Given the description of an element on the screen output the (x, y) to click on. 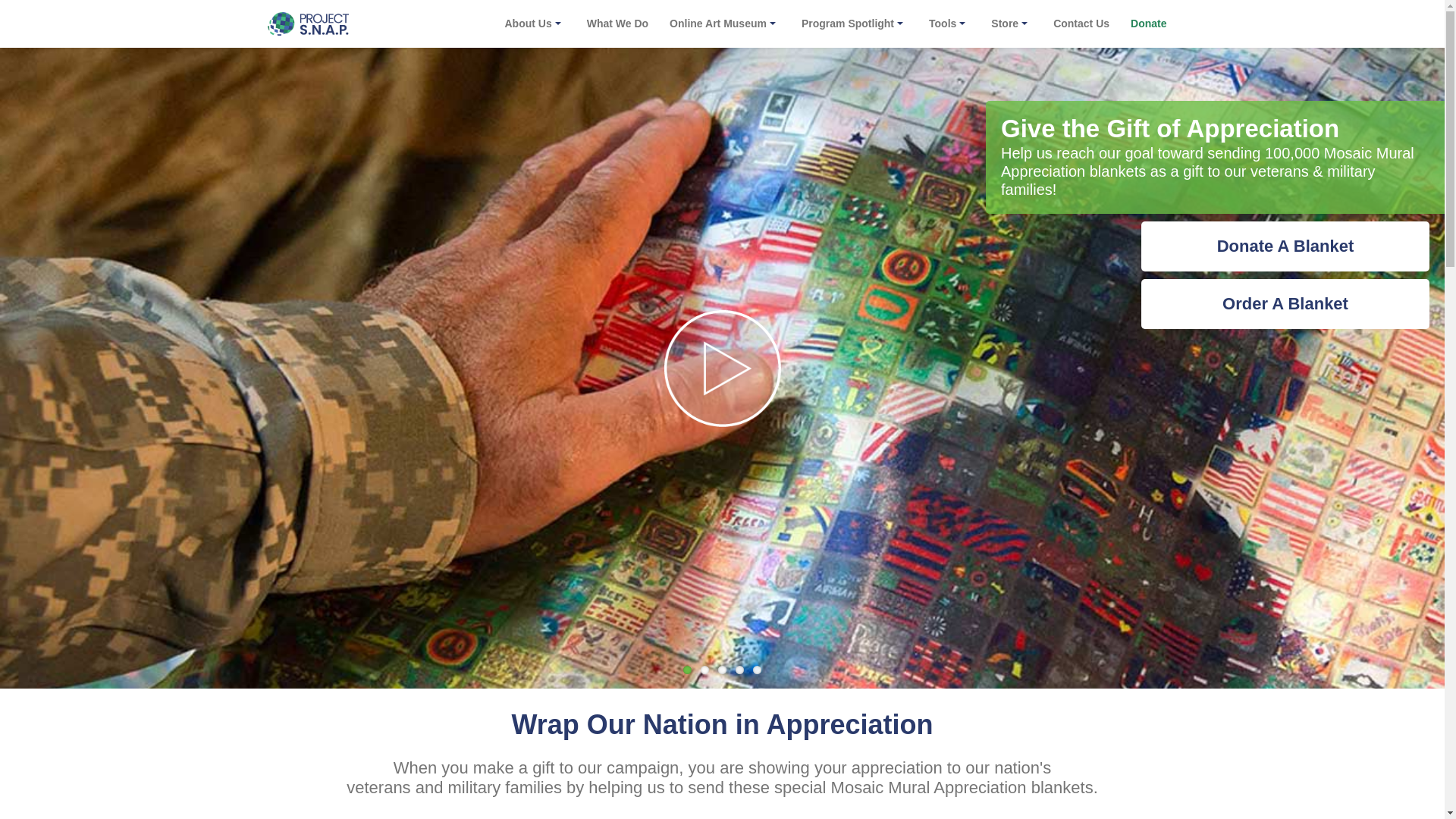
Project S.N.A.P. (306, 24)
Program Spotlight (847, 24)
What We Do (616, 24)
Online Art Museum (718, 24)
About Us (527, 24)
